Given the description of an element on the screen output the (x, y) to click on. 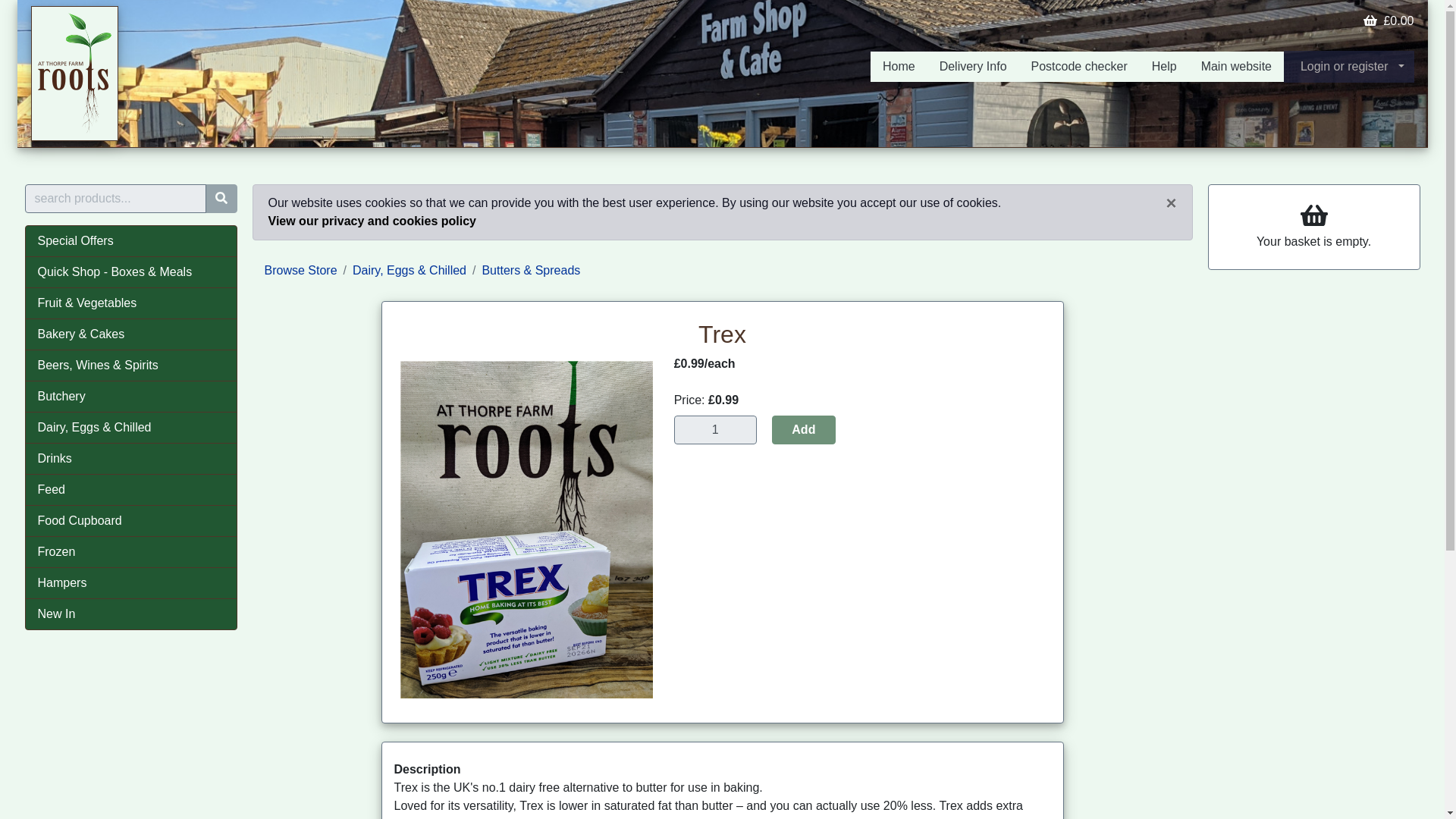
Special Offers (130, 241)
Help (1164, 66)
Postcode checker (1079, 66)
Delivery Info (973, 66)
Main website (1236, 66)
  Login or register   (1348, 66)
Home (898, 66)
1 (715, 429)
